Given the description of an element on the screen output the (x, y) to click on. 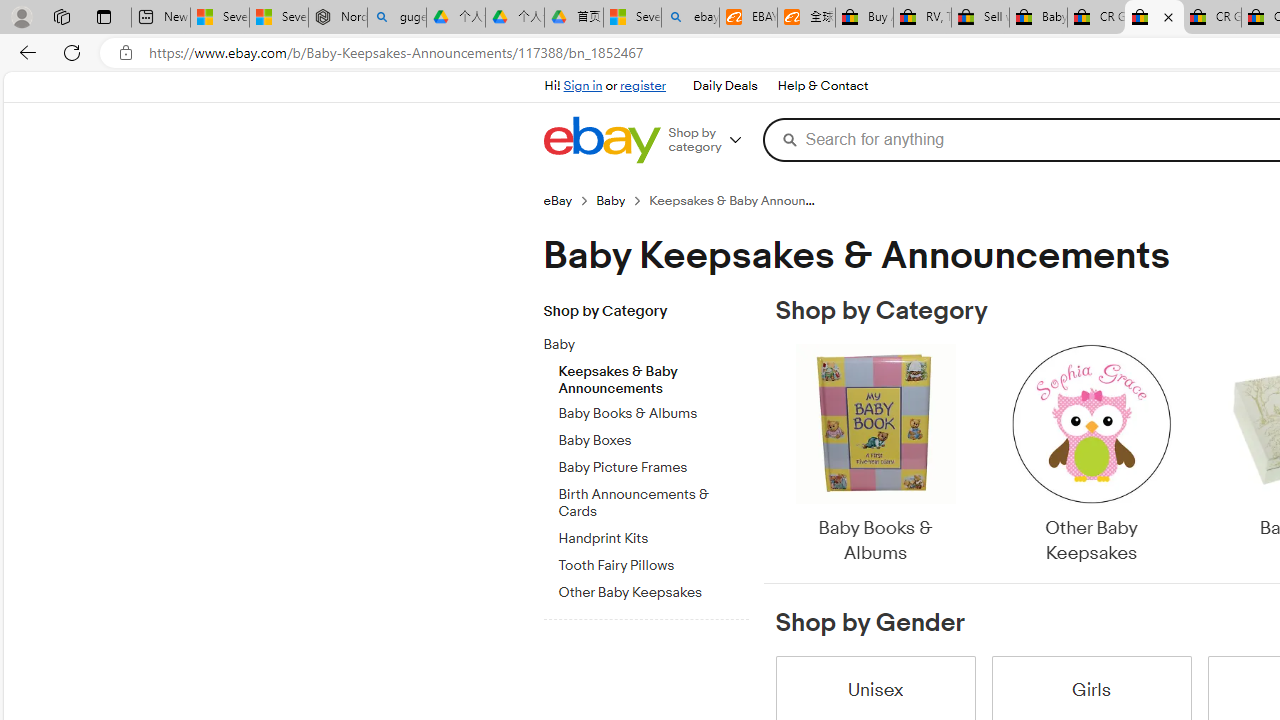
Other Baby Keepsakes (1090, 455)
Daily Deals (724, 85)
Shop by category (711, 140)
Keepsakes & Baby Announcements (653, 375)
Tooth Fairy Pillows (653, 566)
Buy Auto Parts & Accessories | eBay (864, 17)
RV, Trailer & Camper Steps & Ladders for sale | eBay (922, 17)
Baby Keepsakes & Announcements for sale | eBay (1154, 17)
eBay Home (601, 139)
eBay (569, 200)
Baby Picture Frames (653, 464)
Baby Books & Albums (874, 455)
Refresh (72, 52)
eBay Home (601, 139)
Birth Announcements & Cards (653, 500)
